Given the description of an element on the screen output the (x, y) to click on. 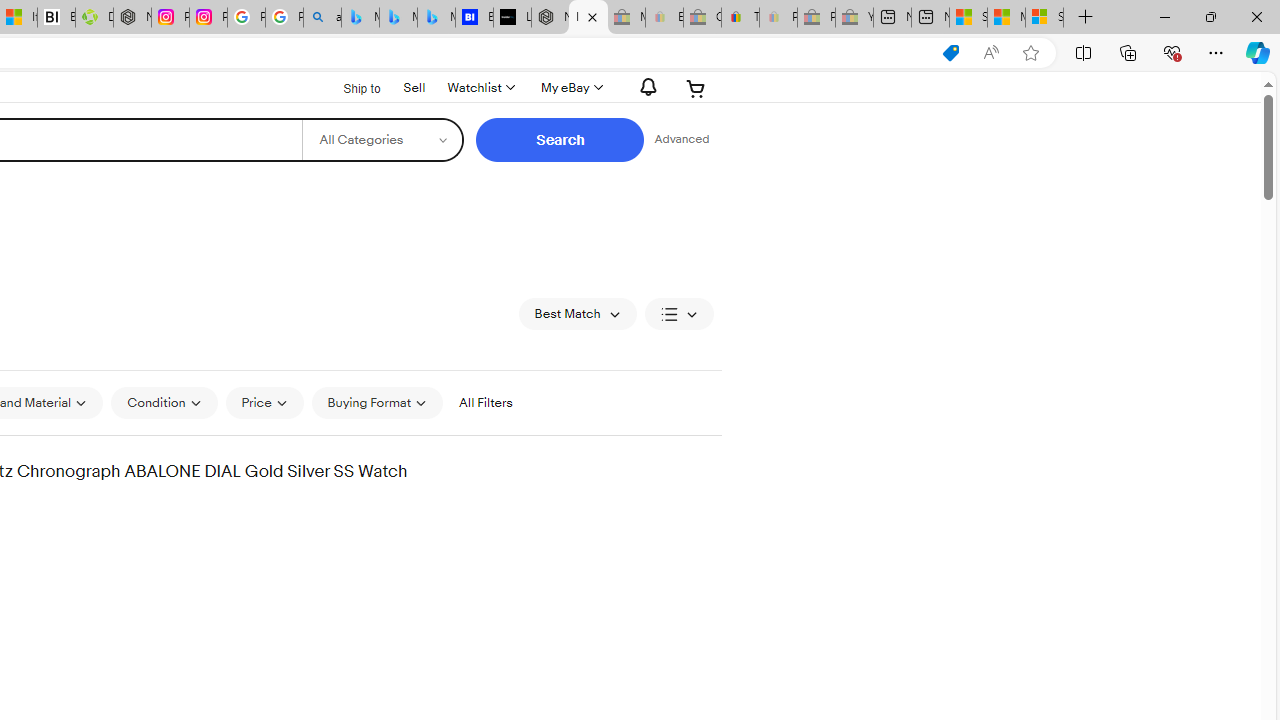
Price (264, 402)
Microsoft Bing Travel - Shangri-La Hotel Bangkok (436, 17)
Buying Format (377, 403)
Watchlist (479, 88)
Condition (164, 402)
